Given the description of an element on the screen output the (x, y) to click on. 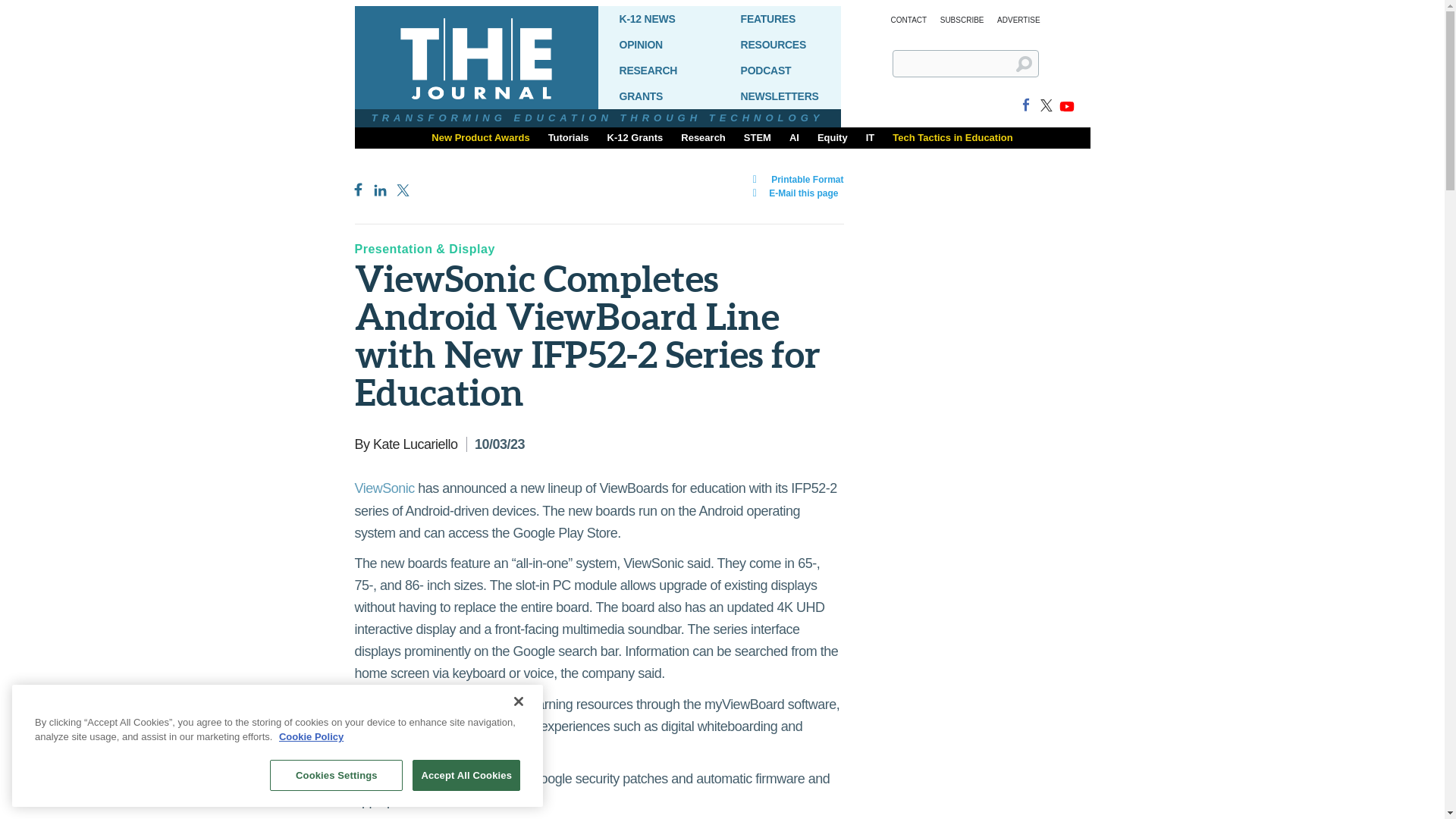
STEM (757, 137)
NEWSLETTERS (780, 95)
OPINION (658, 44)
Research (703, 137)
PODCAST (780, 70)
GRANTS (658, 95)
3rd party ad content (976, 719)
SUBSCRIBE (961, 19)
New Product Awards (480, 137)
ADVERTISE (1018, 19)
Search (1029, 69)
CONTACT (908, 19)
RESOURCES (780, 44)
Tutorials (568, 137)
K-12 NEWS (658, 18)
